Given the description of an element on the screen output the (x, y) to click on. 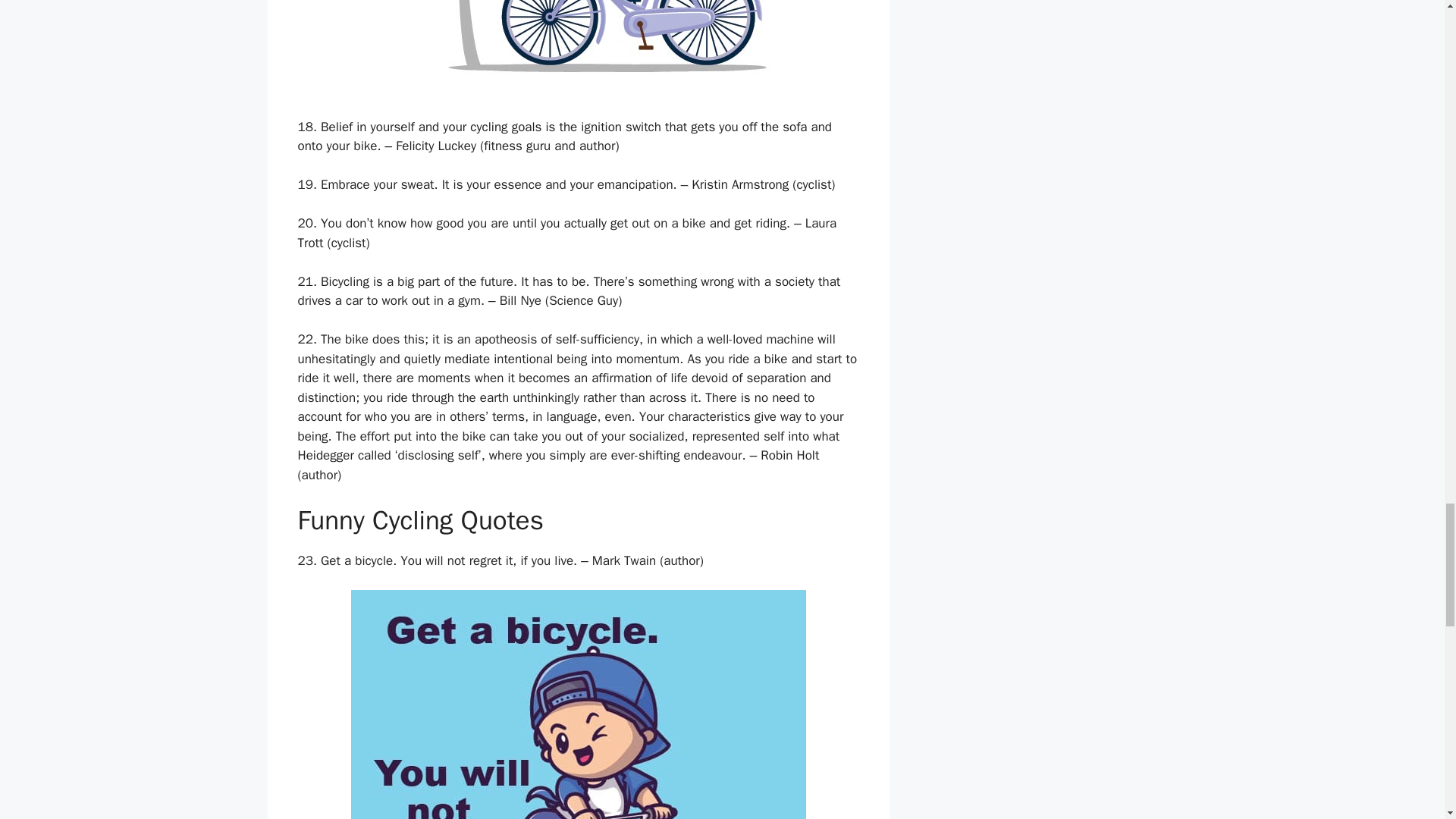
Inspirational Cycling Quotes 4 (577, 704)
Inspirational Cycling Quotes 3 (577, 48)
